Given the description of an element on the screen output the (x, y) to click on. 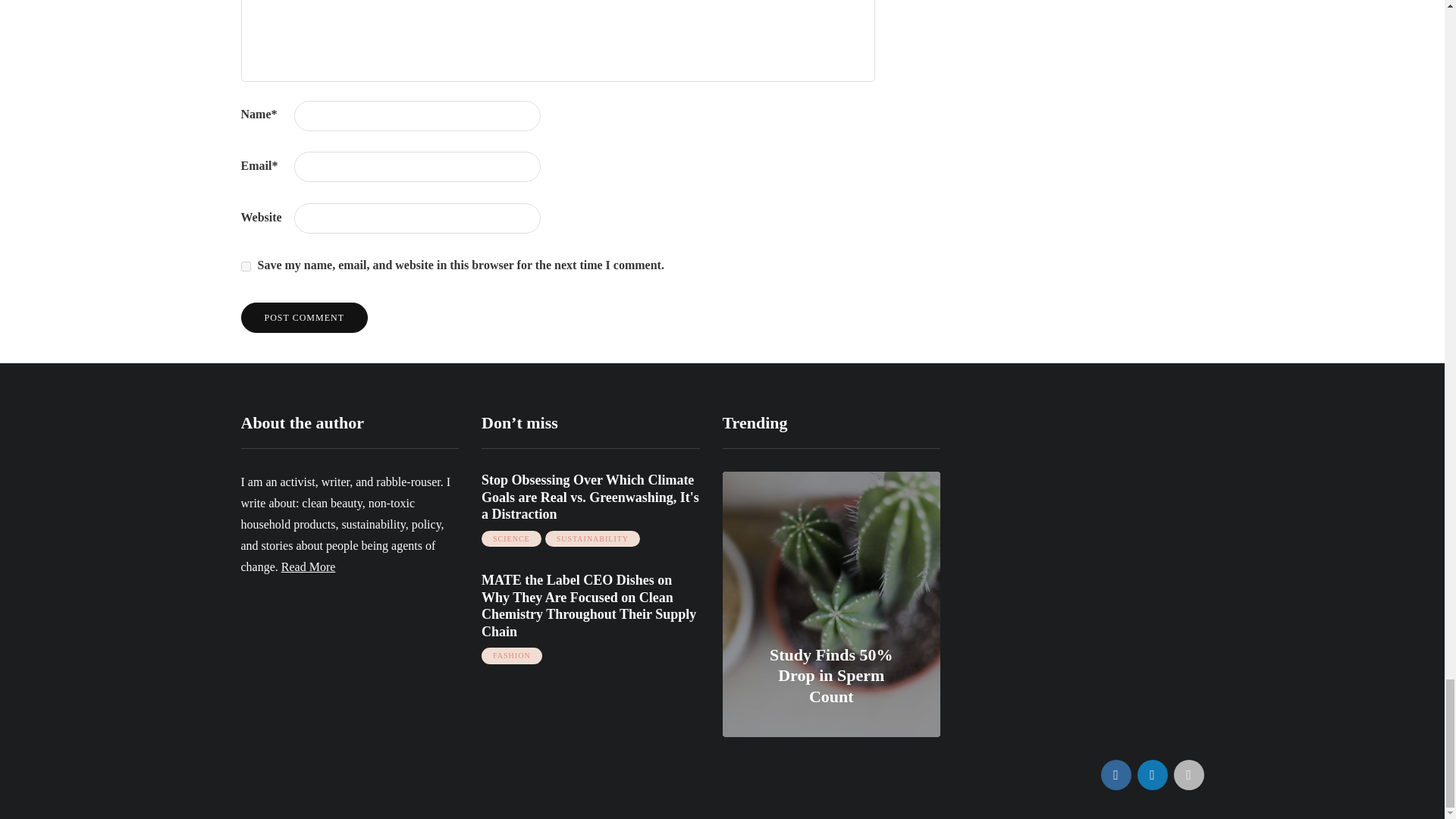
Post comment (304, 317)
yes (245, 266)
